Given the description of an element on the screen output the (x, y) to click on. 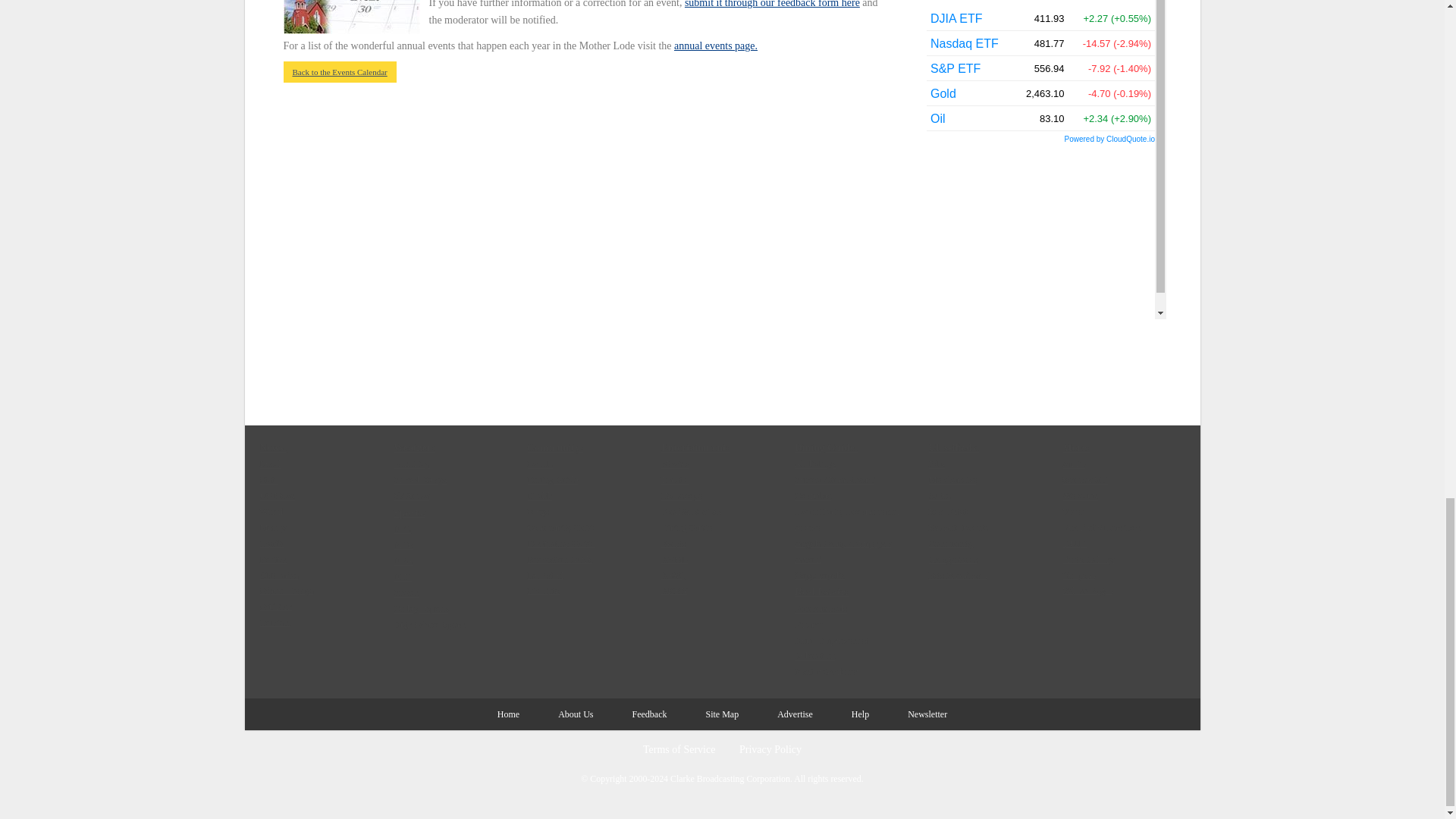
annual events page. (715, 45)
Back to the Events Calendar (339, 71)
submit it through our feedback form here (772, 4)
